Given the description of an element on the screen output the (x, y) to click on. 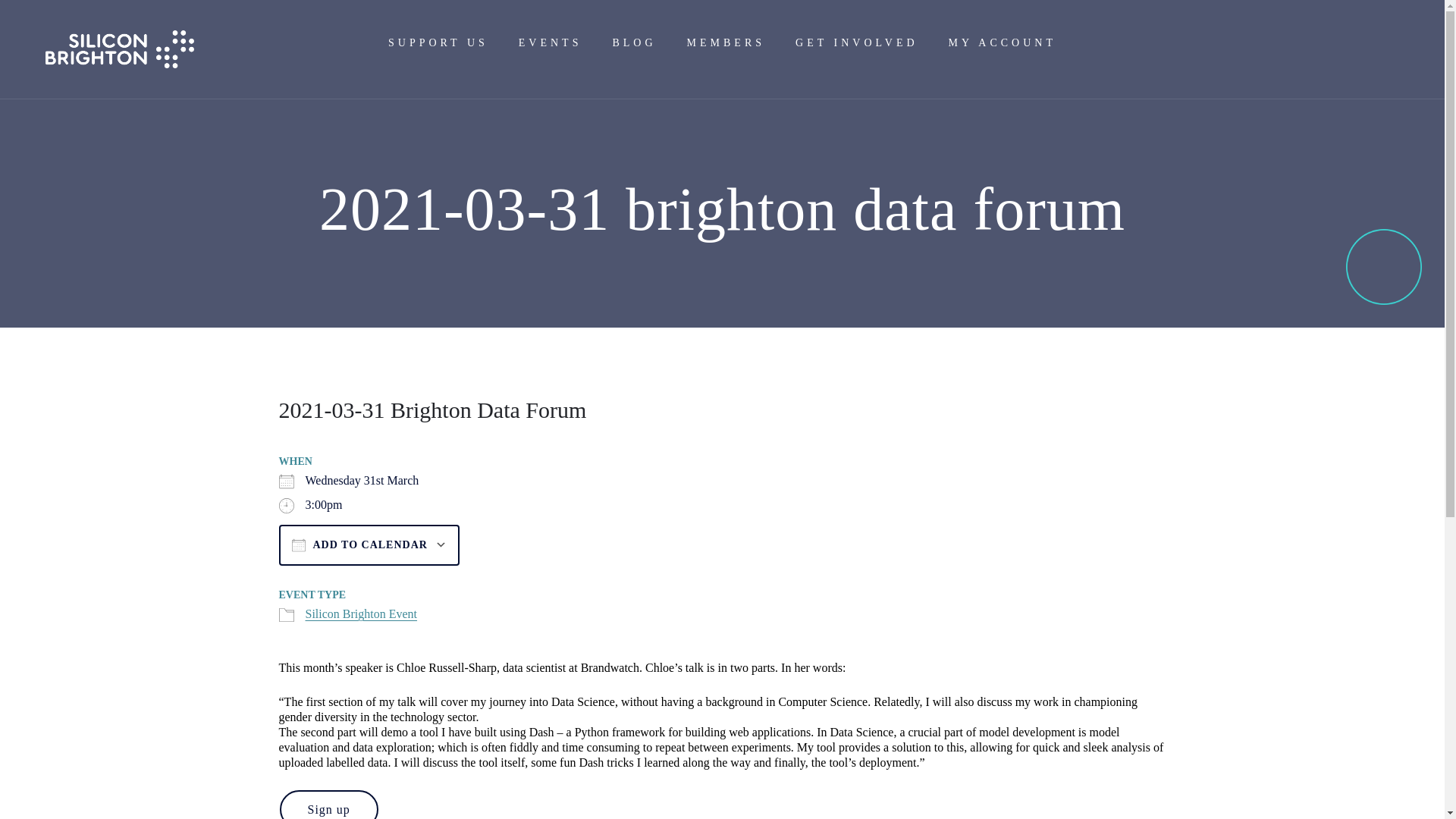
BLOG (633, 42)
Download ICS (368, 577)
MEMBERS (726, 42)
Sign up (328, 804)
EVENTS (550, 42)
MY ACCOUNT (1003, 42)
SUPPORT US (437, 42)
GET INVOLVED (856, 42)
Silicon Brighton Event (360, 613)
ADD TO CALENDAR (369, 544)
